Given the description of an element on the screen output the (x, y) to click on. 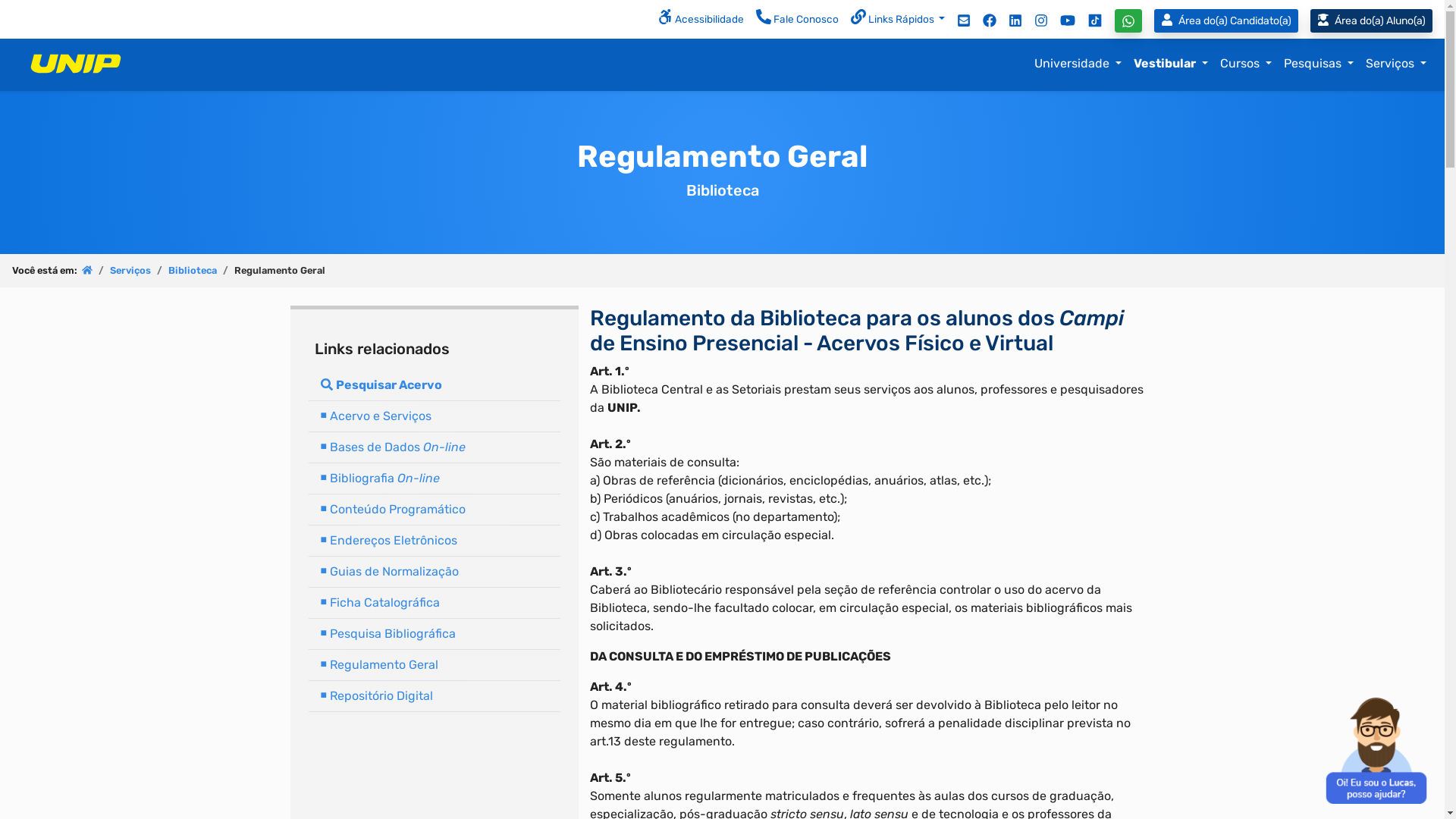
Candidato(a) Element type: text (1229, 20)
Fale Conosco Element type: text (796, 19)
Candidato(a) Element type: text (1226, 20)
Acessibilidade Element type: text (700, 19)
Acesso ao Webmail Element type: hover (963, 19)
Vestibular Element type: text (1170, 63)
Siga a UNIP no Instagram Element type: hover (1041, 19)
Aluno(a) Element type: text (1371, 20)
Universidade Element type: text (1077, 63)
Cursos Element type: text (1245, 63)
Siga a UNIP no Facebook Element type: hover (989, 19)
Siga a UNIP no TikTok da UNIP Element type: hover (1094, 20)
Biblioteca Element type: text (192, 270)
Aluno(a) Element type: text (1377, 20)
Siga a UNIP no Linkedin Element type: hover (1015, 19)
Pesquisas Element type: text (1318, 63)
Inscreva-se no canal da UNIP no YouTube Element type: hover (1067, 20)
Fale conosco no WhatsApp Element type: hover (1128, 20)
